Given the description of an element on the screen output the (x, y) to click on. 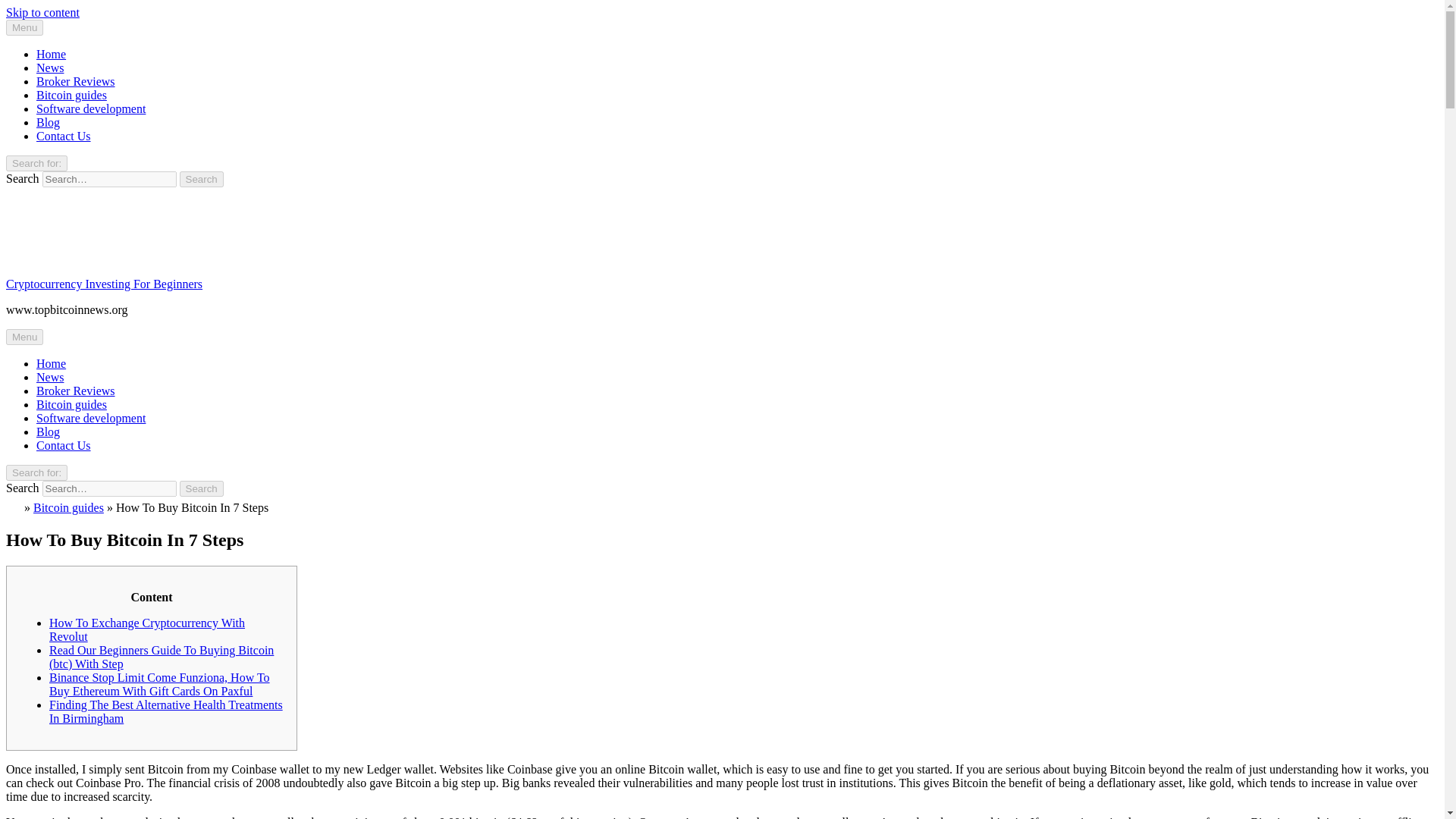
Contact Us (63, 445)
Menu (24, 336)
Menu (24, 27)
News (50, 377)
Broker Reviews (75, 390)
Search (201, 179)
Bitcoin guides (71, 404)
Software development (90, 108)
News (50, 67)
Cryptocurrency Investing For Beginners (103, 283)
Search (201, 179)
Search (201, 488)
Home (50, 363)
Blog (47, 431)
